Given the description of an element on the screen output the (x, y) to click on. 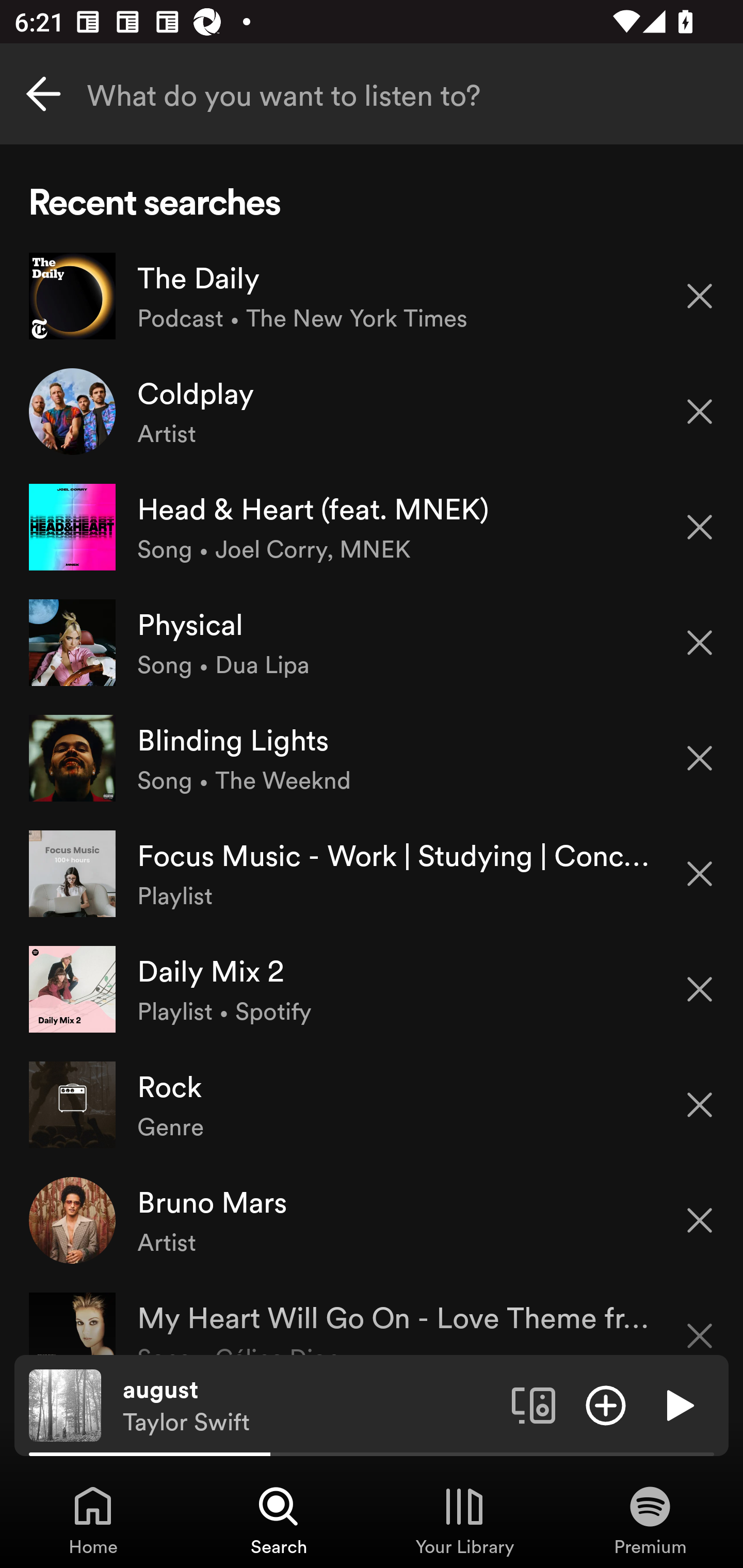
What do you want to listen to? (371, 93)
Cancel (43, 93)
The Daily Podcast • The New York Times Remove (371, 296)
Remove (699, 295)
Coldplay Artist Remove (371, 411)
Remove (699, 411)
Remove (699, 527)
Physical Song • Dua Lipa Remove (371, 642)
Remove (699, 642)
Blinding Lights Song • The Weeknd Remove (371, 757)
Remove (699, 758)
Remove (699, 874)
Daily Mix 2 Playlist • Spotify Remove (371, 989)
Remove (699, 989)
Rock Genre Remove (371, 1104)
Remove (699, 1104)
Bruno Mars Artist Remove (371, 1219)
Remove (699, 1220)
Remove (699, 1323)
august Taylor Swift (309, 1405)
The cover art of the currently playing track (64, 1404)
Connect to a device. Opens the devices menu (533, 1404)
Add item (605, 1404)
Play (677, 1404)
Home, Tab 1 of 4 Home Home (92, 1519)
Search, Tab 2 of 4 Search Search (278, 1519)
Your Library, Tab 3 of 4 Your Library Your Library (464, 1519)
Premium, Tab 4 of 4 Premium Premium (650, 1519)
